Given the description of an element on the screen output the (x, y) to click on. 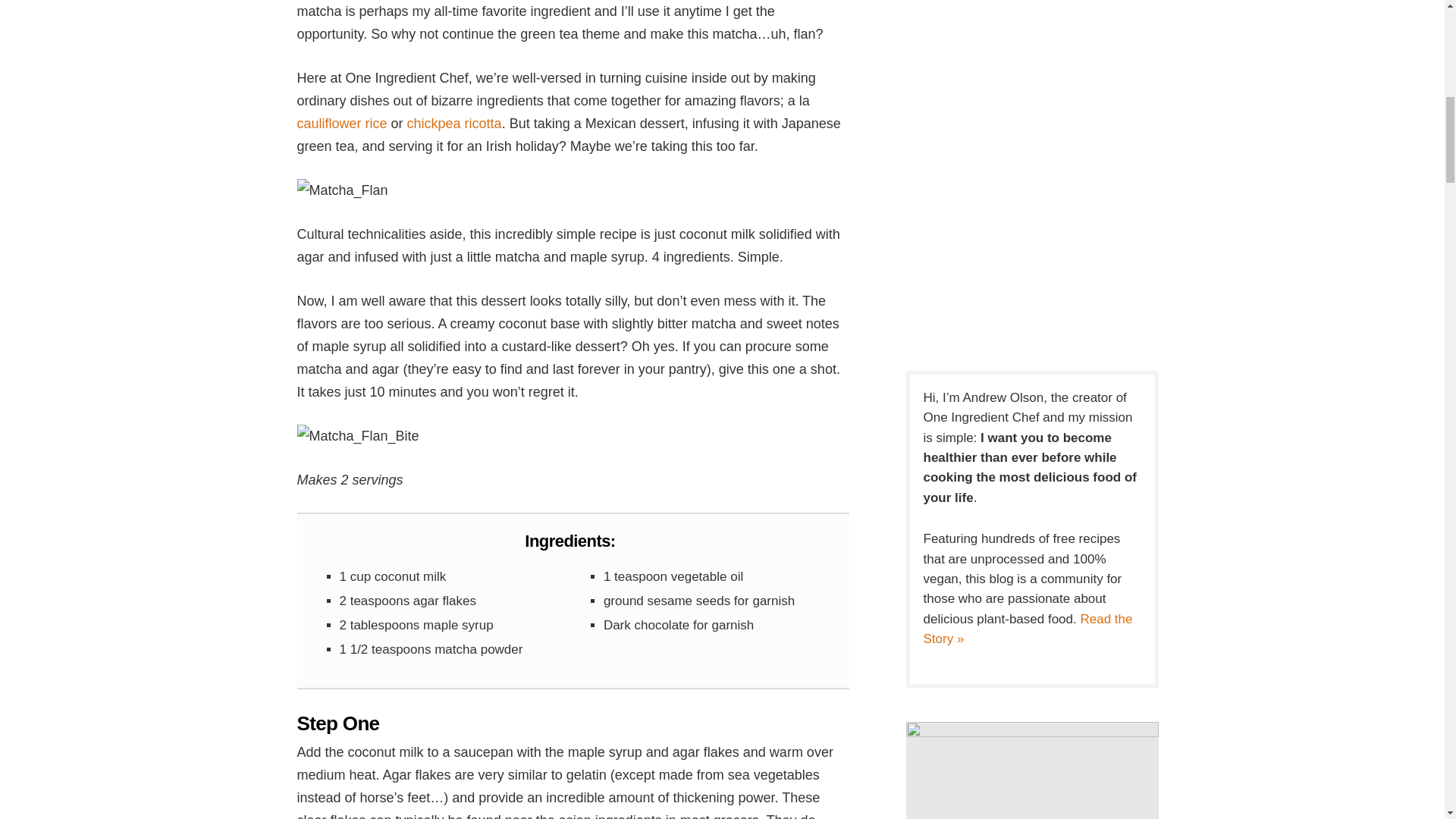
cauliflower rice (342, 123)
chickpea ricotta (454, 123)
Cauliflower Fried Rice with Vegan XO Sauce (342, 123)
